Given the description of an element on the screen output the (x, y) to click on. 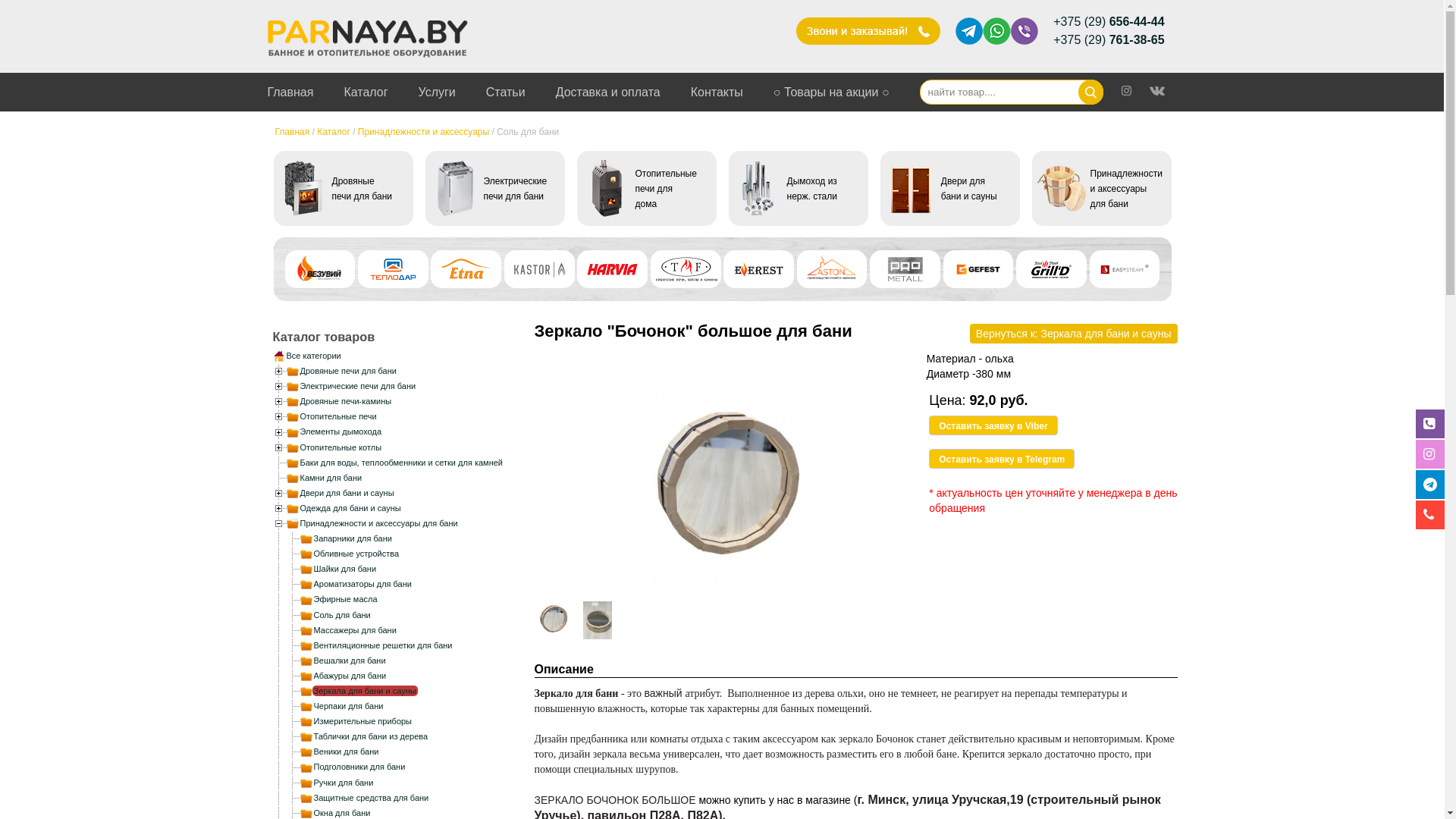
+375 (29) 761-38-65 Element type: text (1108, 40)
+375 (29) 656-44-44 Element type: text (1108, 21)
